Given the description of an element on the screen output the (x, y) to click on. 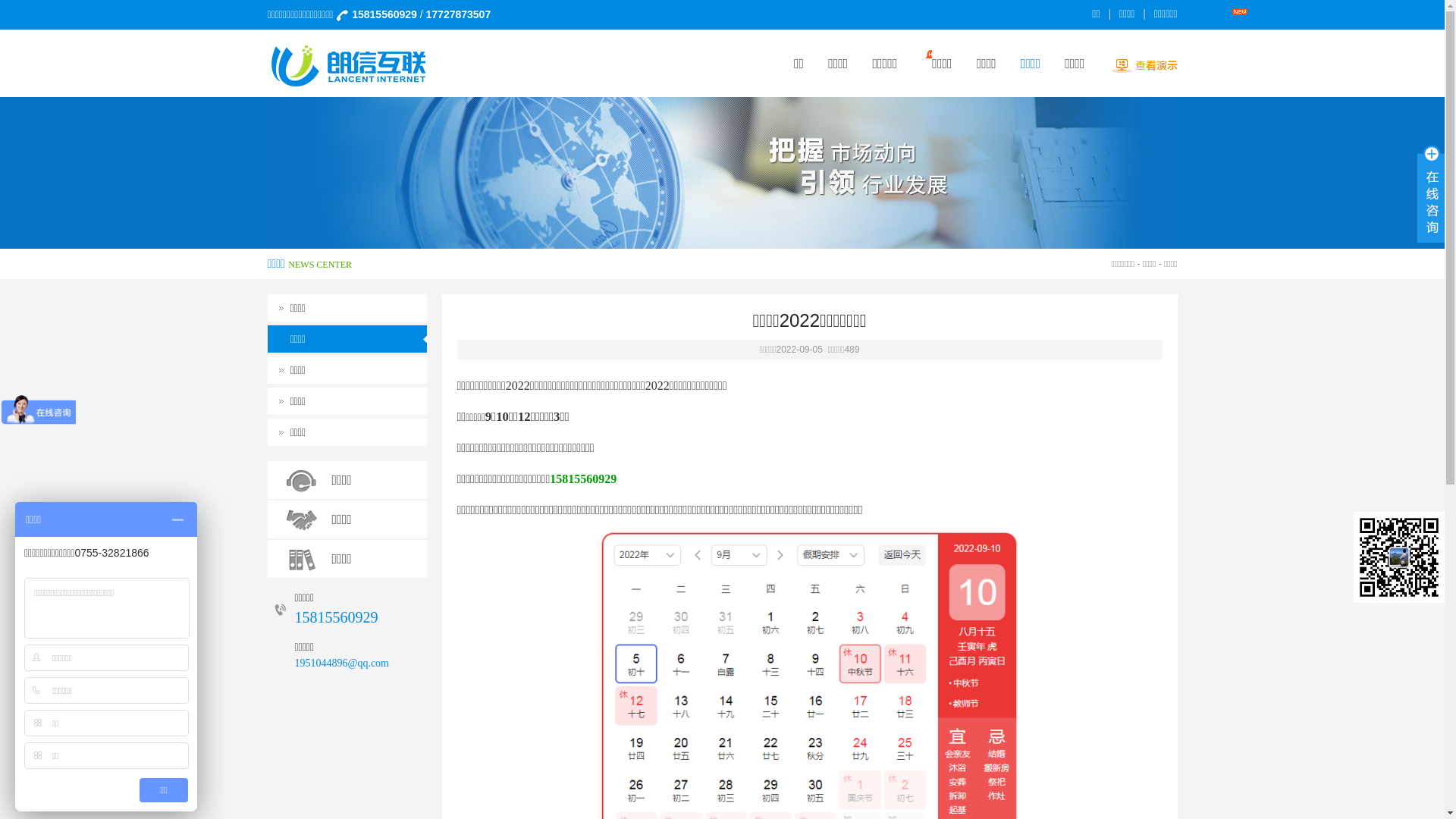
  Element type: text (1430, 187)
